Given the description of an element on the screen output the (x, y) to click on. 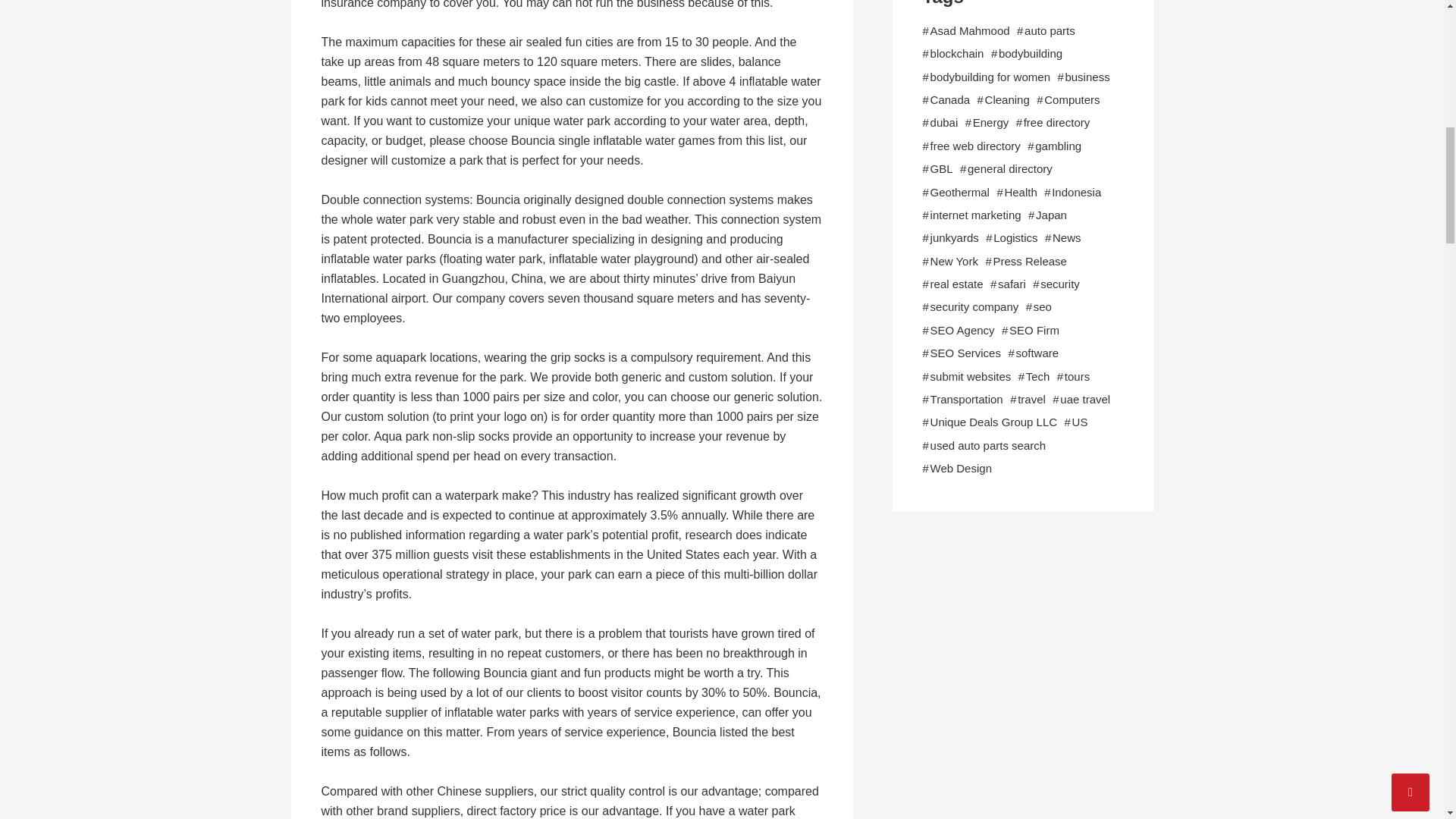
business (1086, 76)
New York (954, 261)
Logistics (1014, 238)
junkyards (954, 238)
dubai (944, 122)
Cleaning (1007, 99)
Japan (1051, 215)
Energy (990, 122)
News (1066, 238)
bodybuilding for women (989, 76)
